Given the description of an element on the screen output the (x, y) to click on. 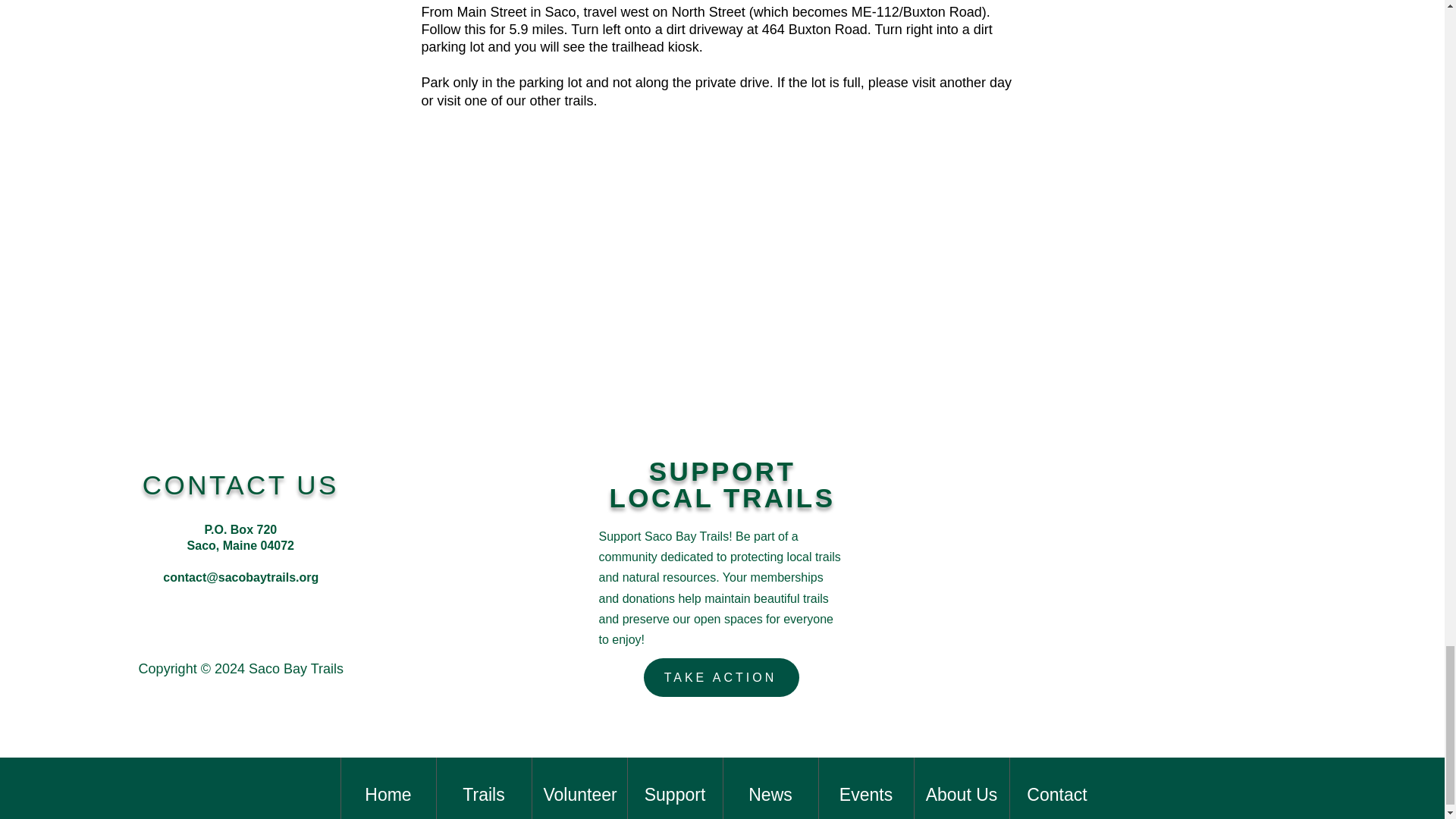
TAKE ACTION (721, 677)
